Given the description of an element on the screen output the (x, y) to click on. 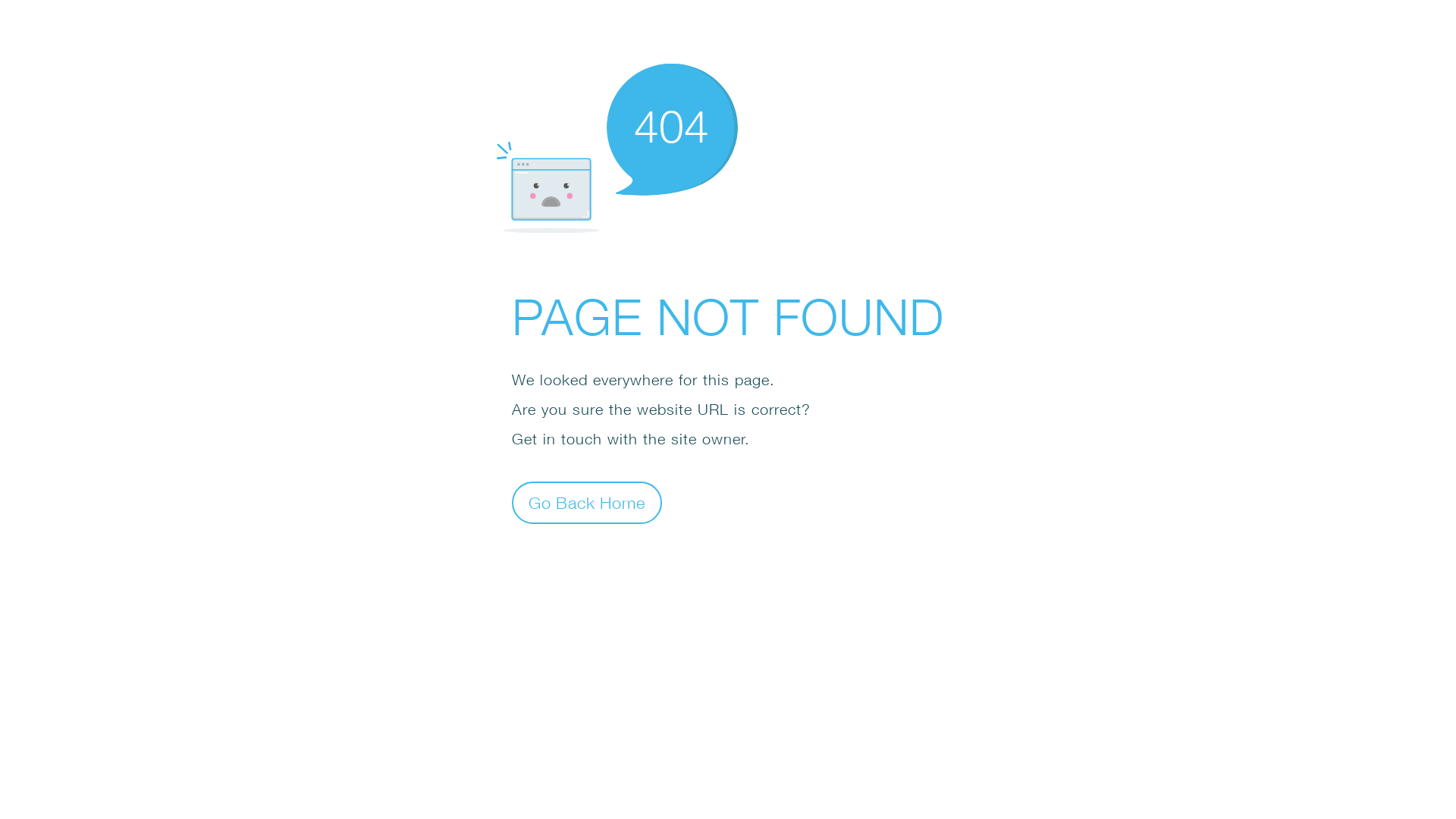
Go Back Home Element type: text (586, 502)
